Given the description of an element on the screen output the (x, y) to click on. 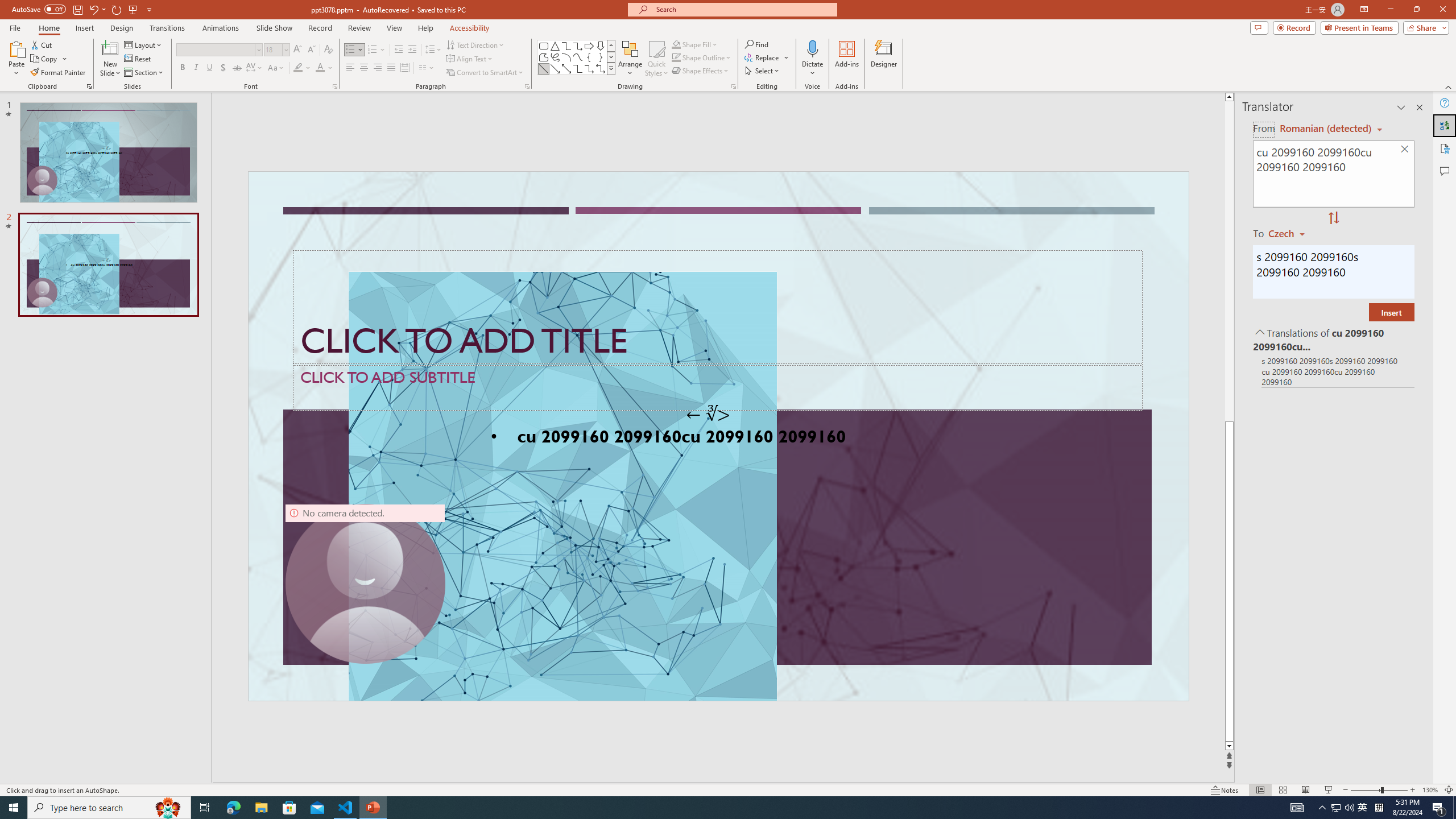
Subtitle TextBox (717, 386)
TextBox 61 (716, 438)
